Given the description of an element on the screen output the (x, y) to click on. 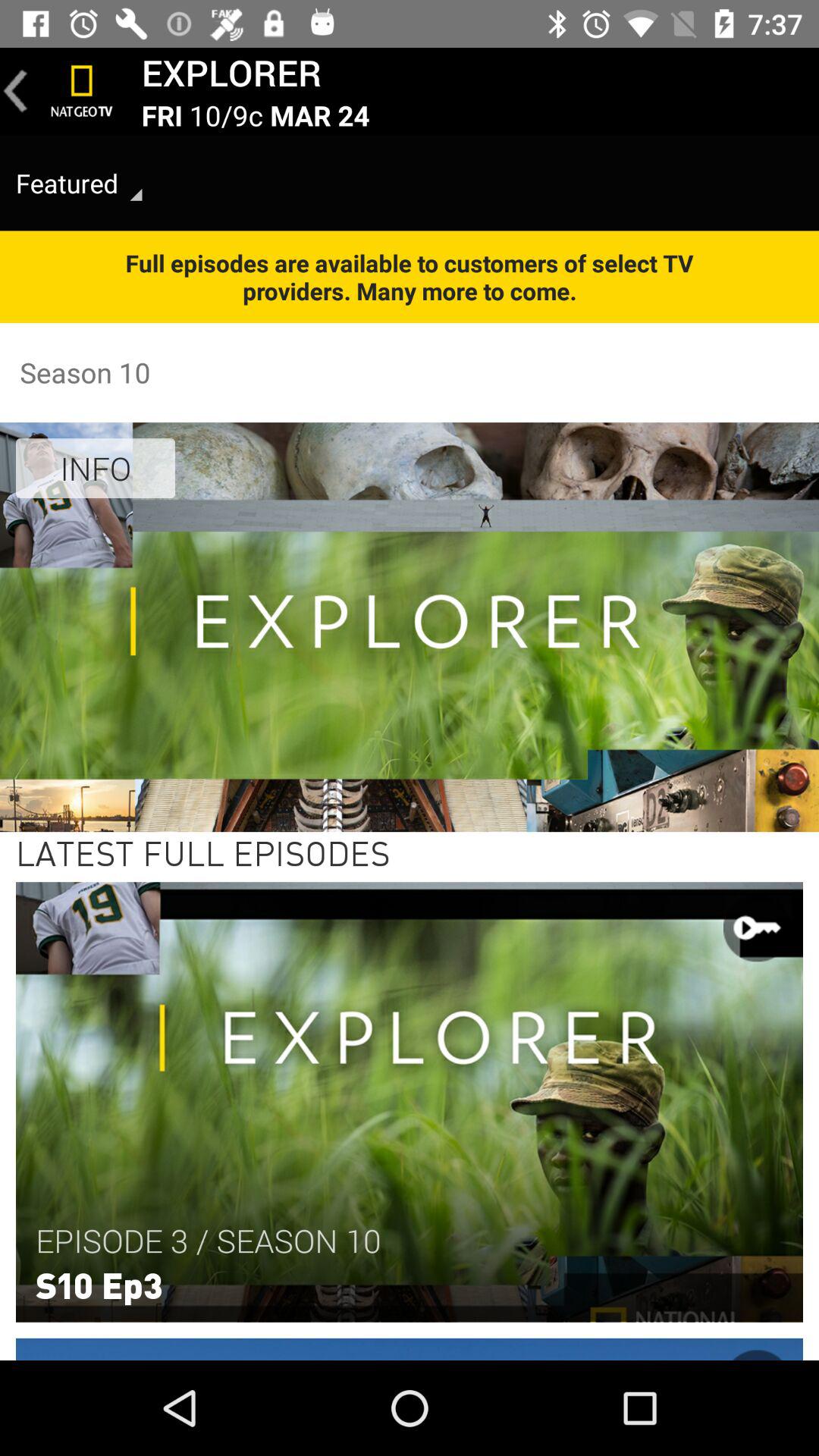
watch tv (81, 90)
